Given the description of an element on the screen output the (x, y) to click on. 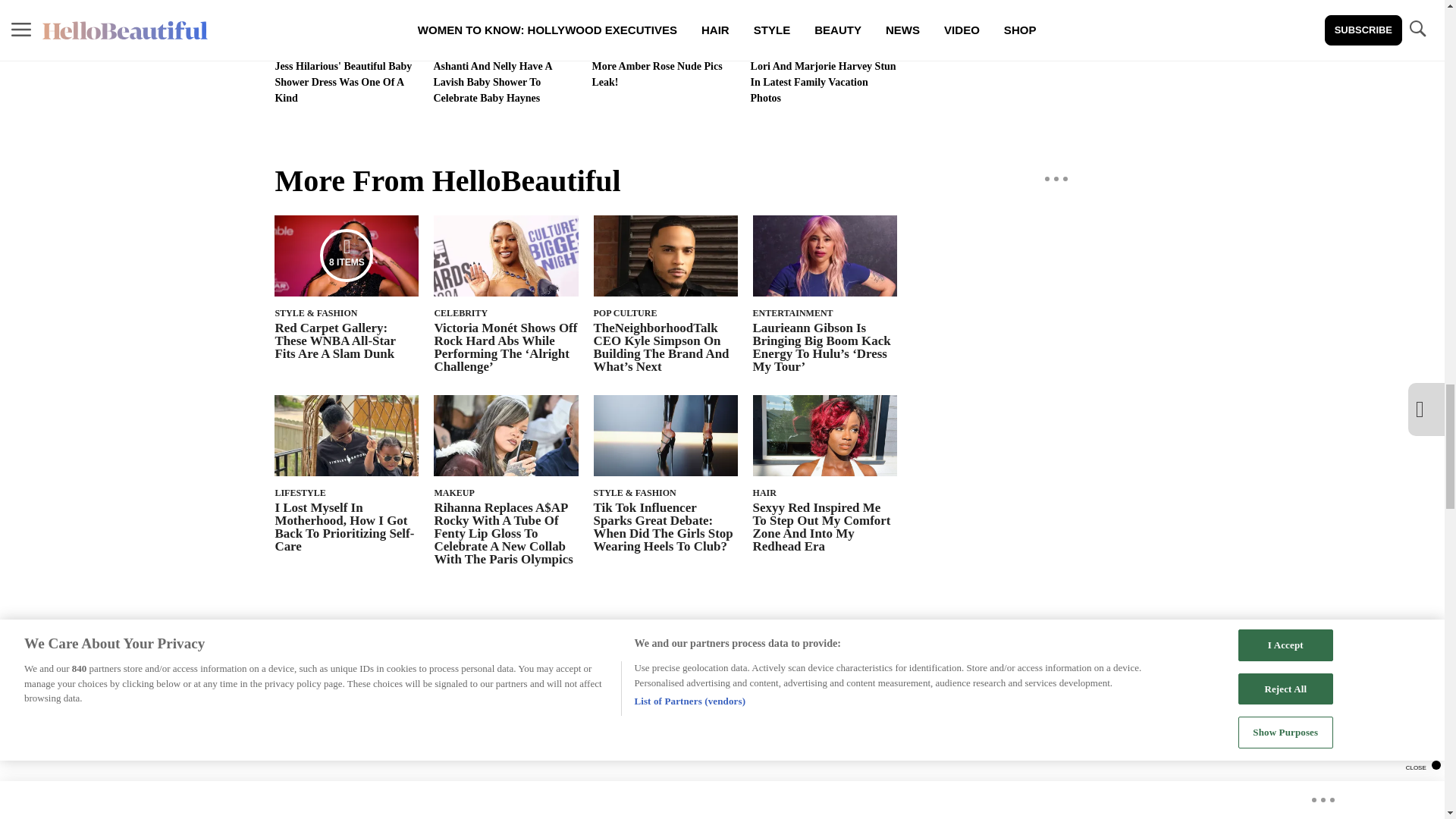
Media Playlist (346, 255)
